Given the description of an element on the screen output the (x, y) to click on. 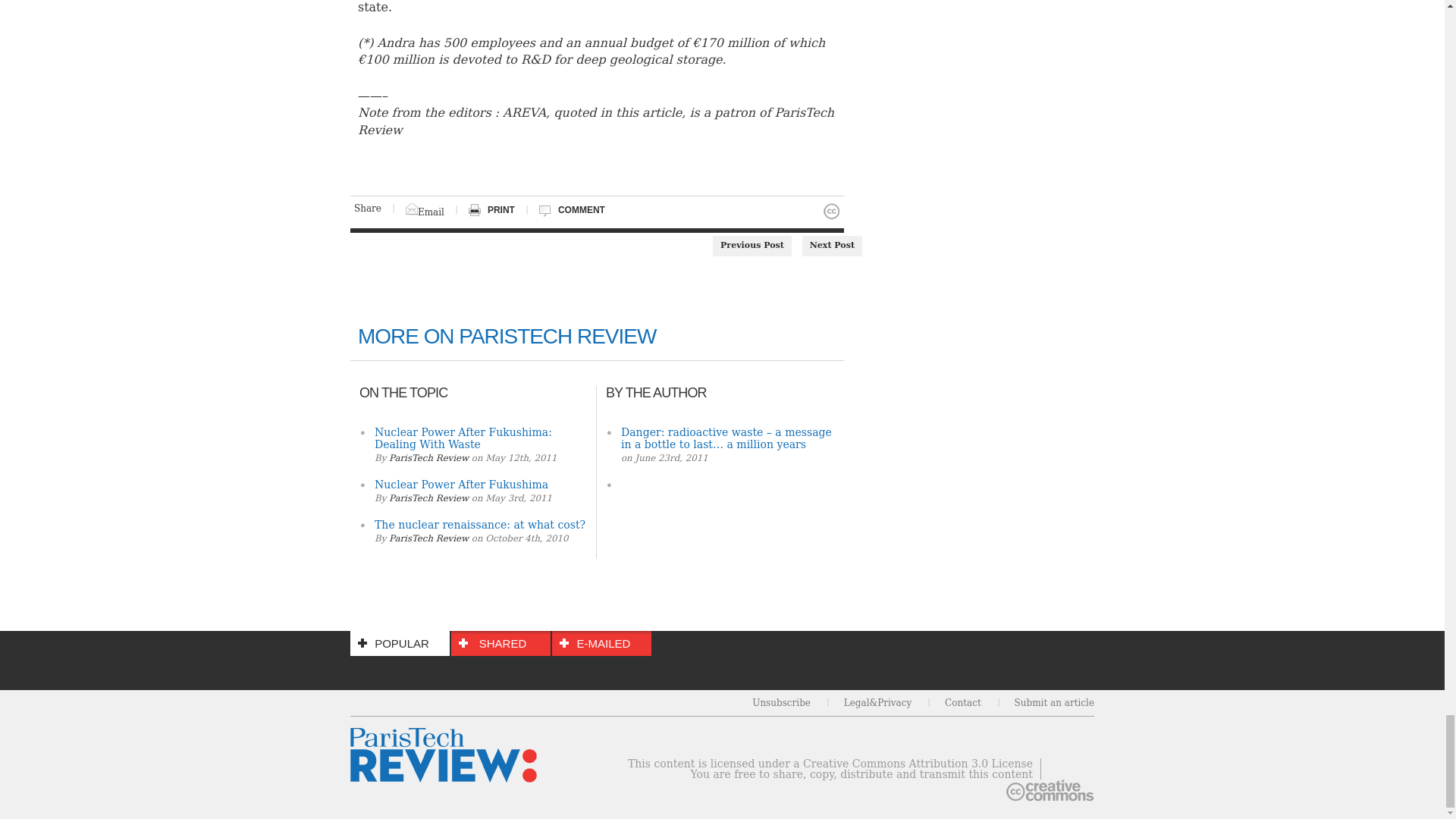
Posts by ParisTech Review (428, 538)
Posts by ParisTech Review (428, 457)
Posts by ParisTech Review (428, 498)
